Given the description of an element on the screen output the (x, y) to click on. 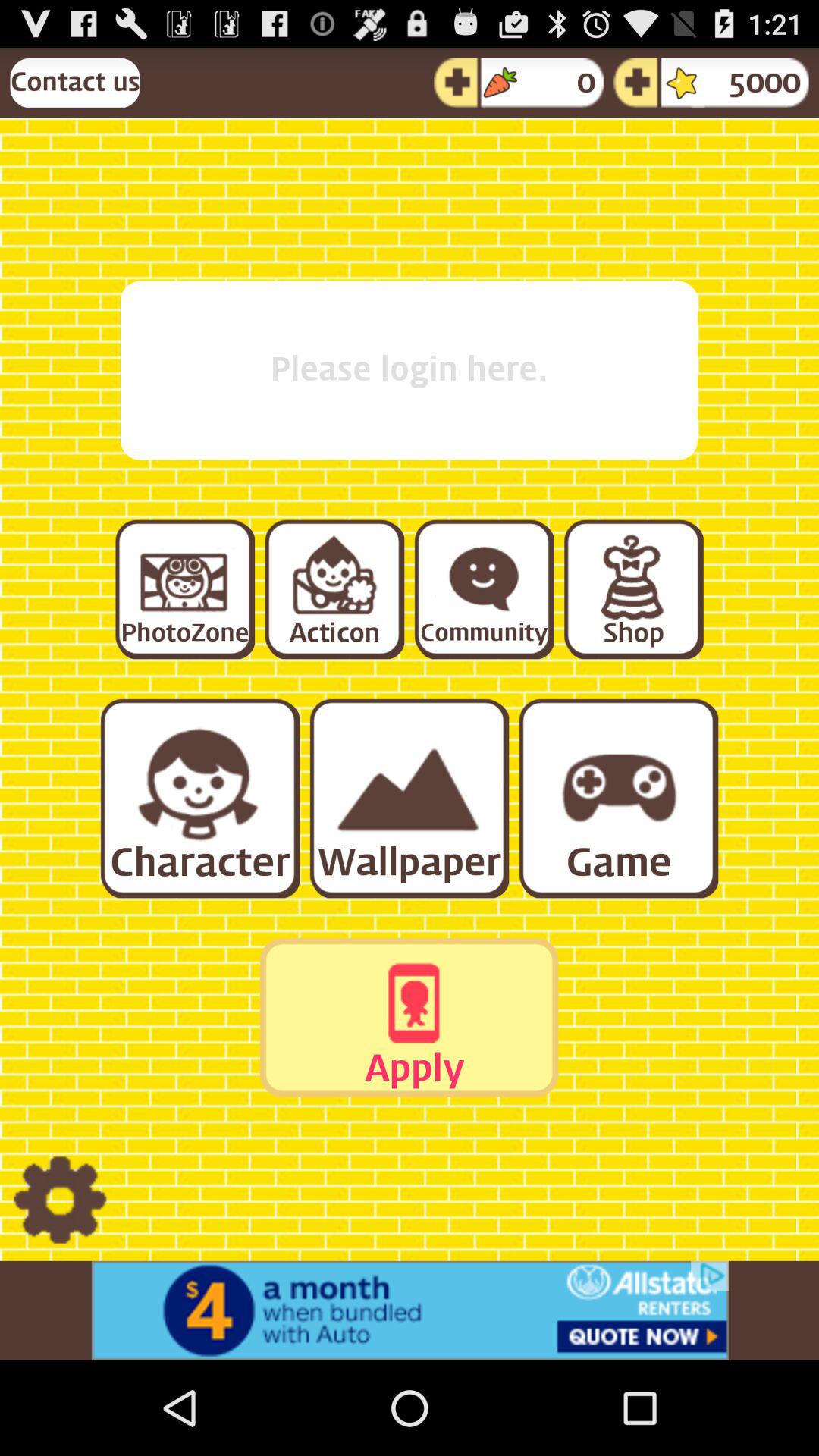
advertisement (409, 1310)
